Given the description of an element on the screen output the (x, y) to click on. 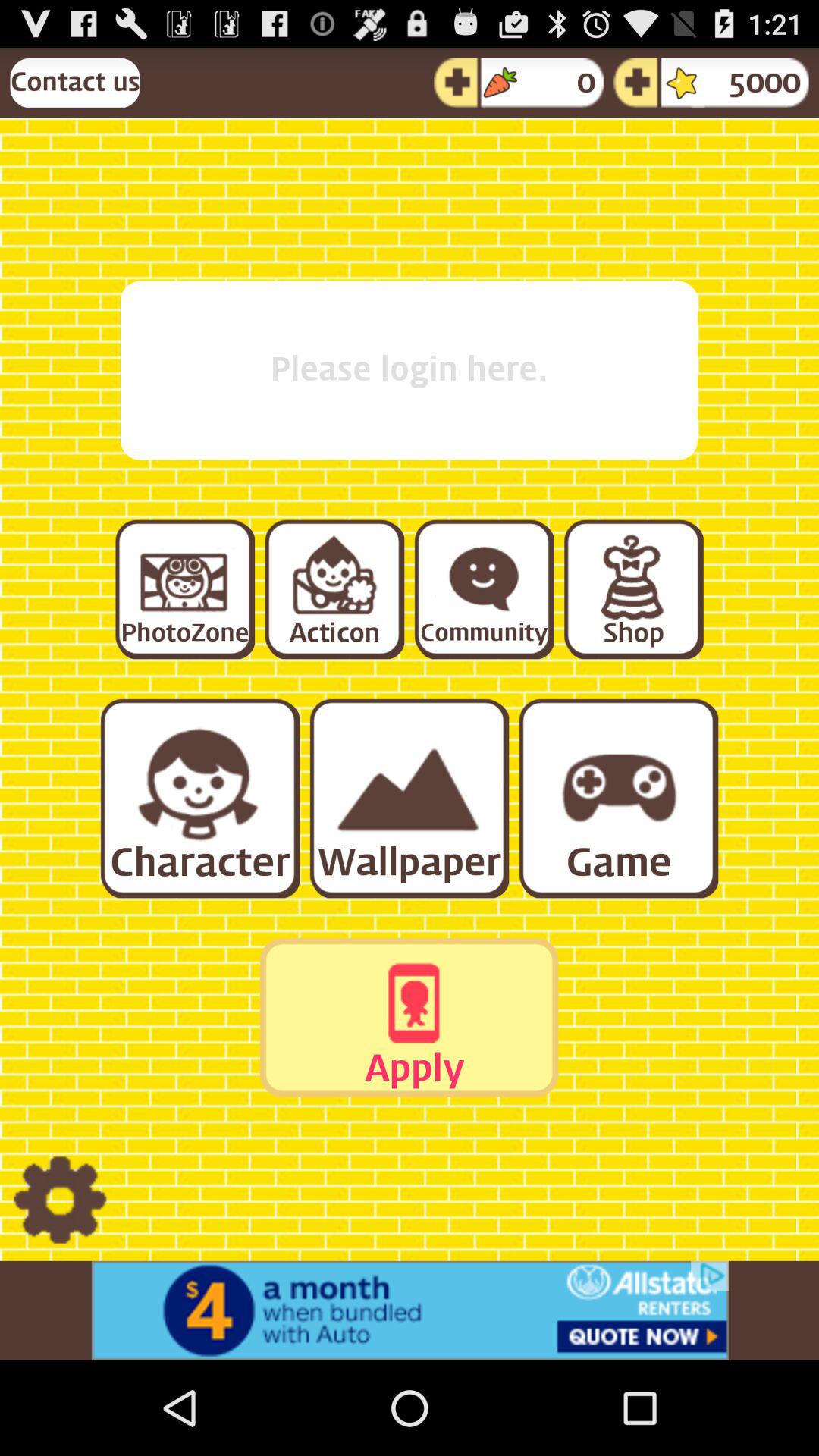
advertisement (409, 1310)
